Given the description of an element on the screen output the (x, y) to click on. 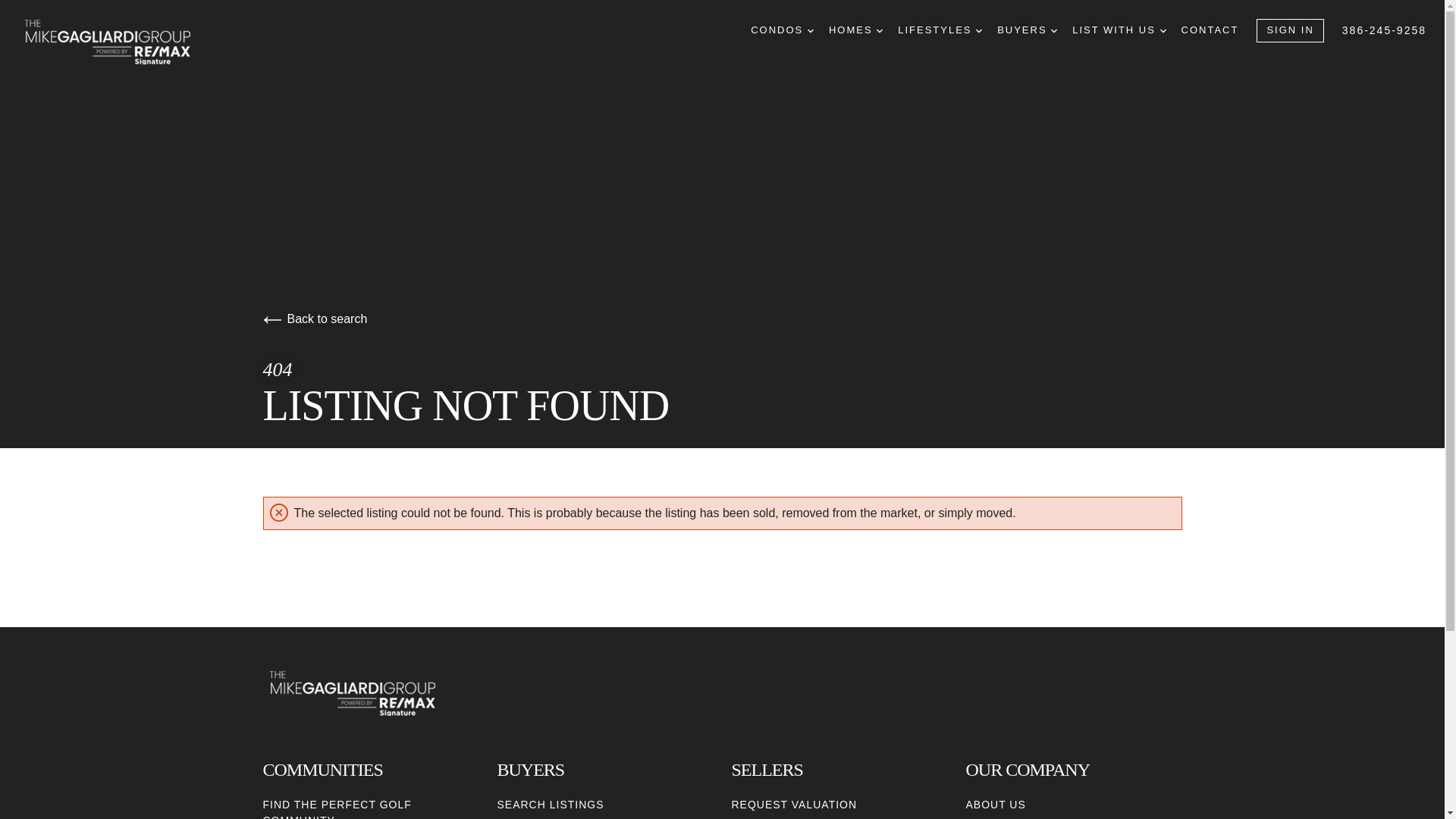
HOMES DROPDOWN ARROW (855, 30)
DROPDOWN ARROW (978, 30)
DROPDOWN ARROW (1163, 30)
DROPDOWN ARROW (879, 30)
BUYERS DROPDOWN ARROW (1027, 30)
LIFESTYLES DROPDOWN ARROW (939, 30)
CONDOS DROPDOWN ARROW (782, 30)
DROPDOWN ARROW (1054, 30)
DROPDOWN ARROW (810, 30)
